Given the description of an element on the screen output the (x, y) to click on. 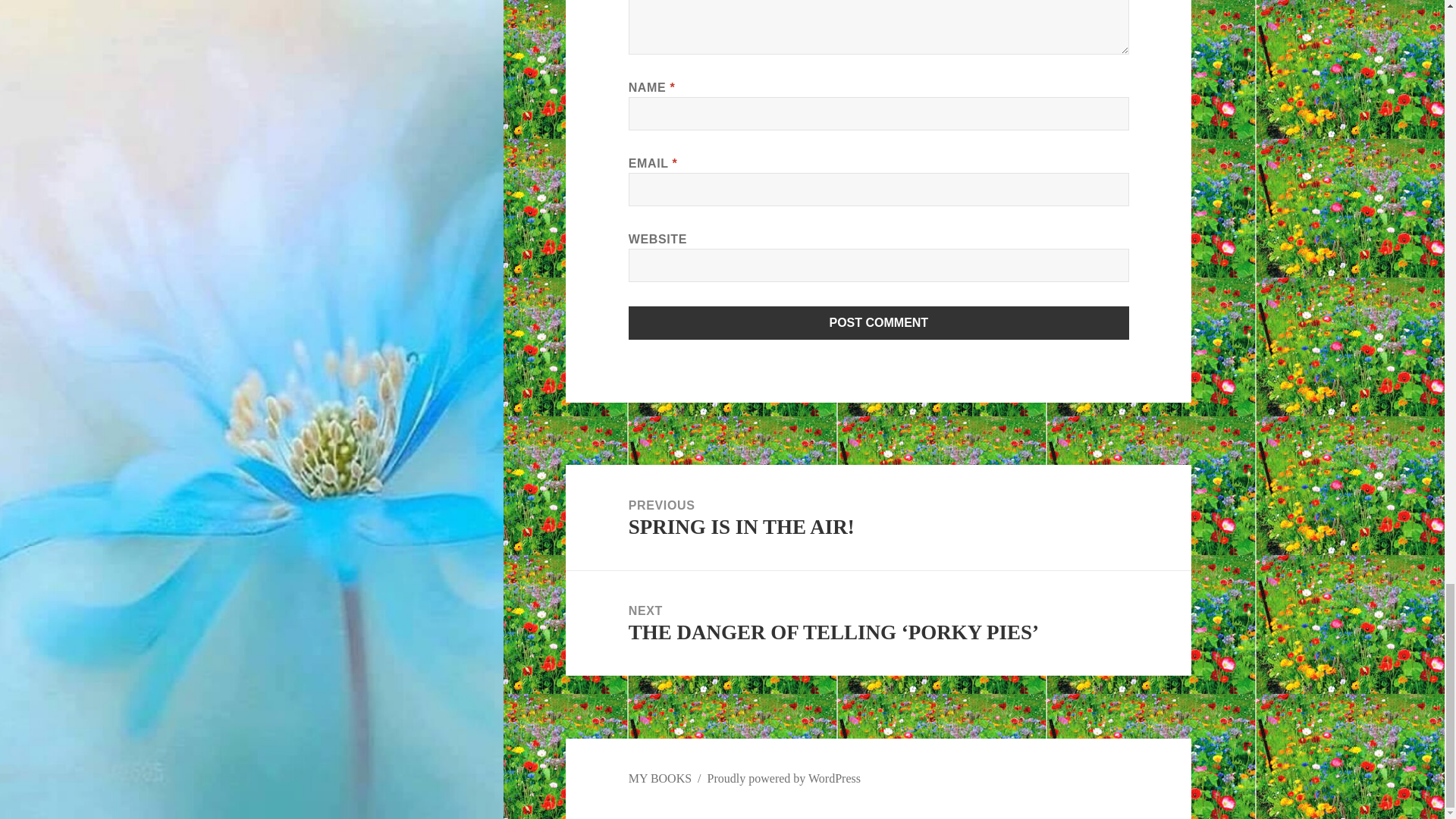
Post Comment (878, 322)
Post Comment (878, 517)
Proudly powered by WordPress (878, 322)
MY BOOKS (783, 778)
